Given the description of an element on the screen output the (x, y) to click on. 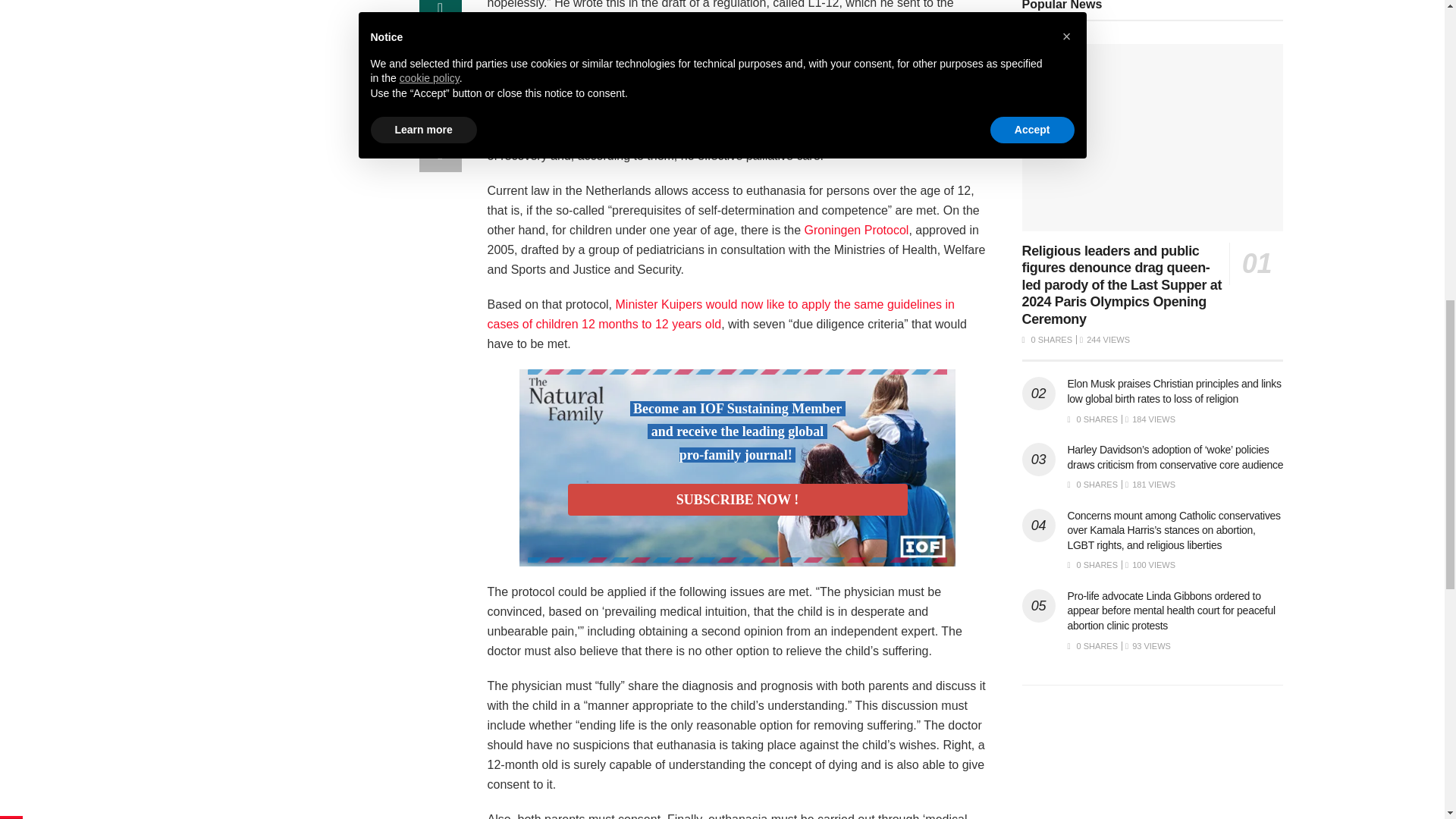
SUBSCRIBE NOW ! (737, 499)
